Given the description of an element on the screen output the (x, y) to click on. 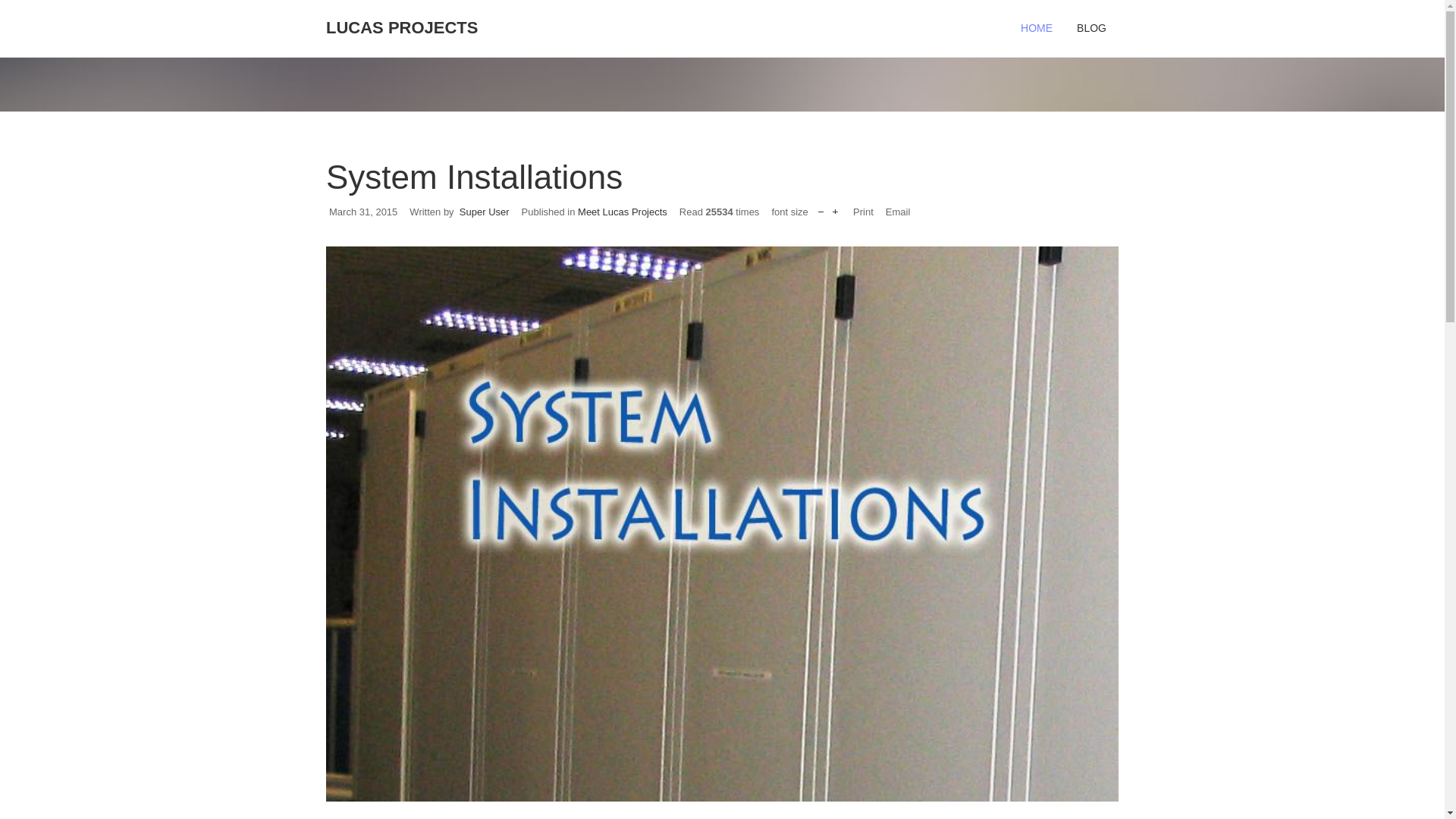
BLOG (1091, 28)
increase font size (835, 207)
Print (863, 211)
HOME (1036, 28)
Meet Lucas Projects (622, 211)
decrease font size (821, 207)
Super User (484, 211)
Email (898, 211)
LUCAS PROJECTS (403, 20)
